Given the description of an element on the screen output the (x, y) to click on. 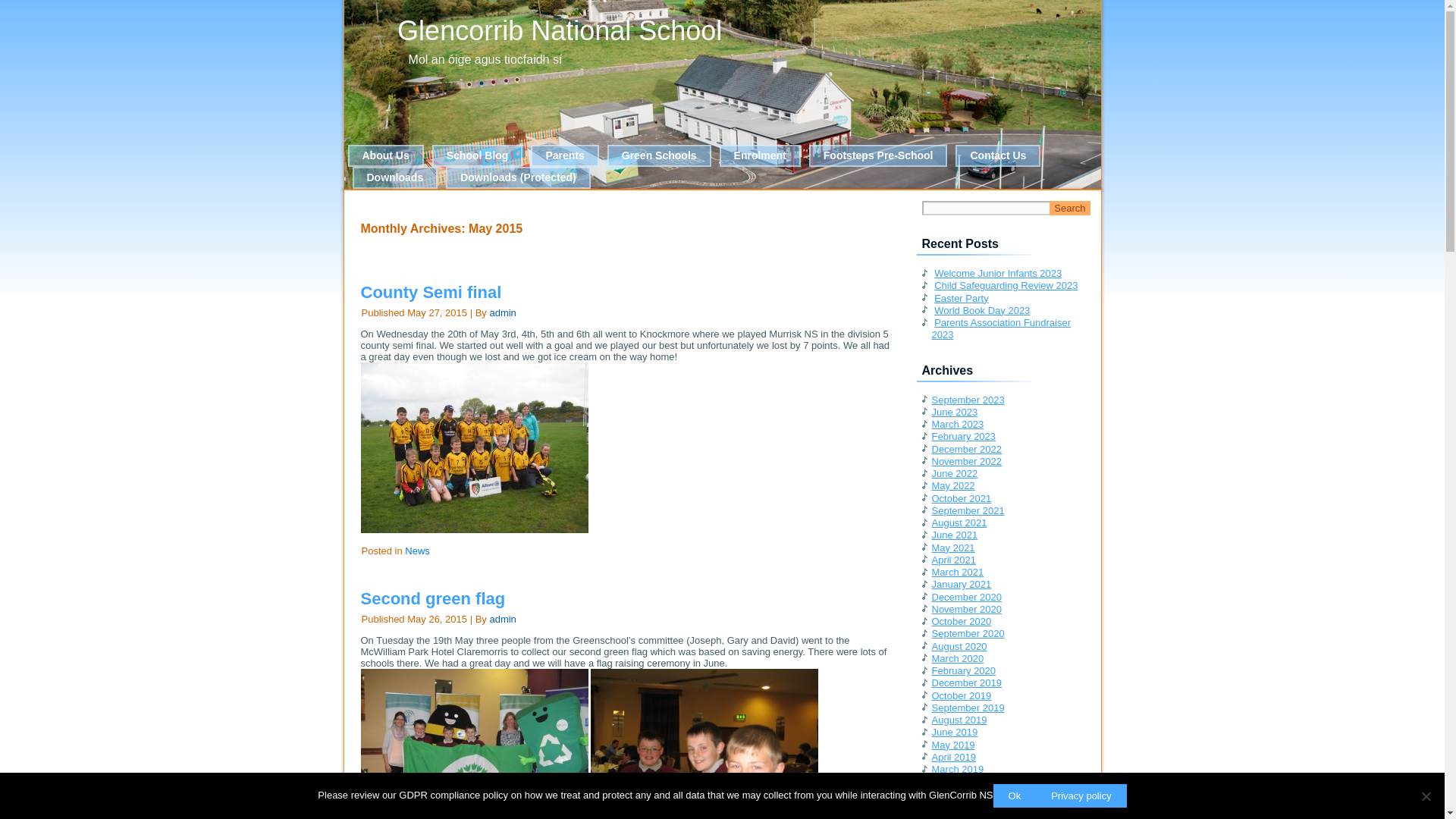
admin (502, 312)
Parents (564, 155)
Enrolment (759, 155)
Enrolment (759, 155)
admin (502, 618)
View all posts by admin (502, 312)
Downloads (395, 178)
Contact Us (998, 155)
About Us (385, 155)
Green Schools (659, 155)
